Given the description of an element on the screen output the (x, y) to click on. 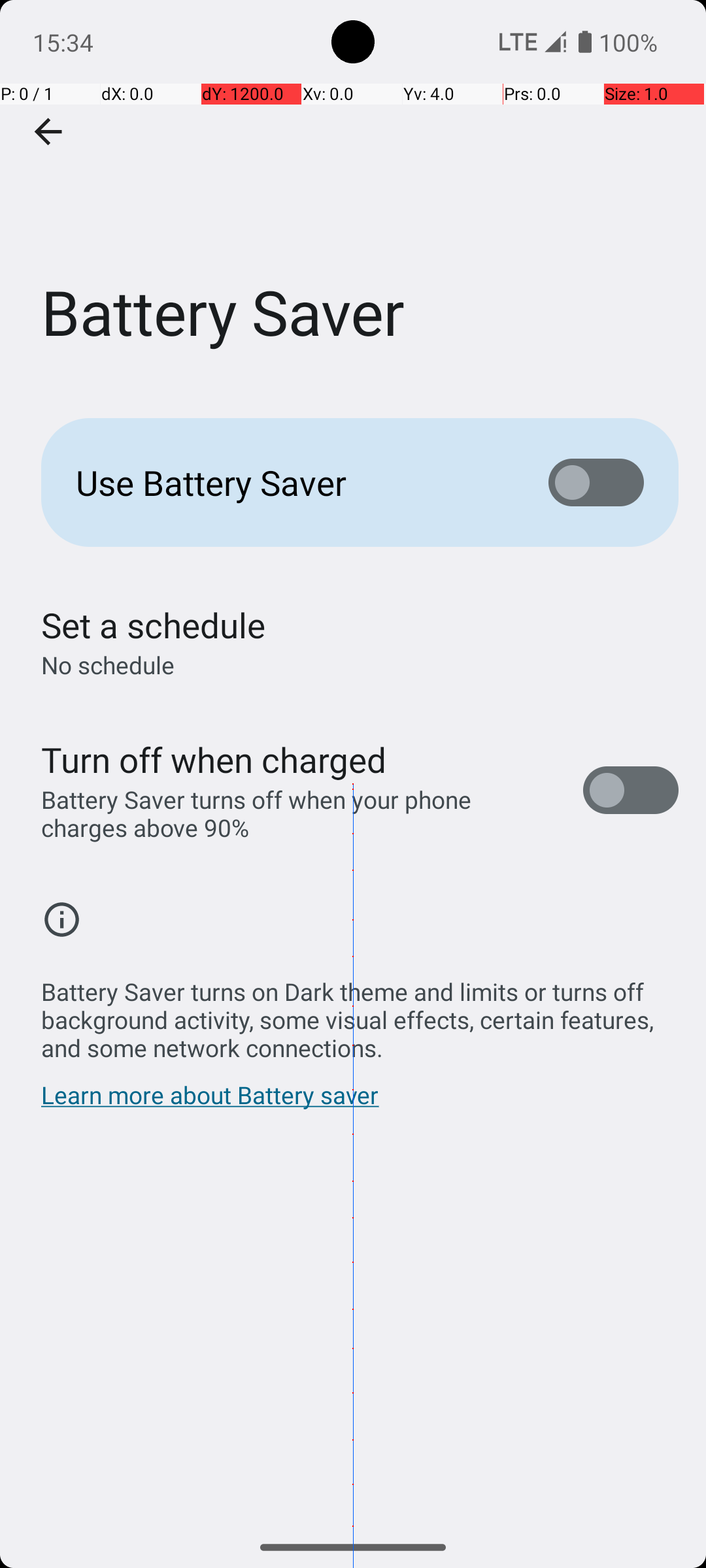
Use Battery Saver Element type: android.widget.TextView (291, 482)
Turn off when charged Element type: android.widget.TextView (213, 759)
Battery Saver turns off when your phone charges above 90% Element type: android.widget.TextView (298, 813)
Battery Saver turns on Dark theme and limits or turns off background activity, some visual effects, certain features, and some network connections. Element type: android.widget.TextView (359, 1012)
Learn more about Battery saver Element type: android.widget.TextView (210, 1101)
